Given the description of an element on the screen output the (x, y) to click on. 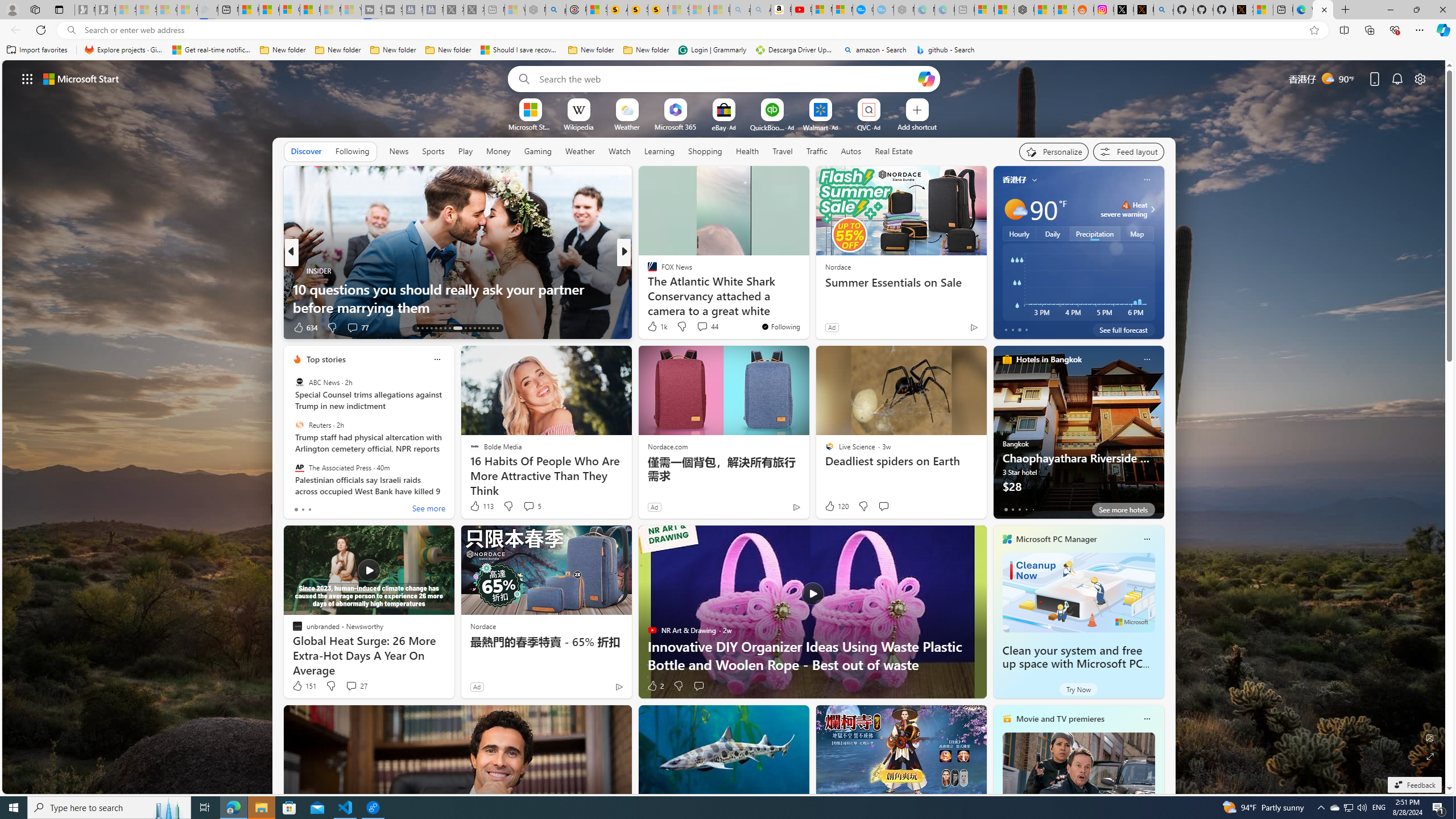
Heat - Severe (1126, 204)
AutomationID: tab-25 (478, 328)
tab-3 (1025, 509)
Personalize your feed" (1054, 151)
To get missing image descriptions, open the context menu. (529, 109)
AutomationID: tab-20 (449, 328)
AutomationID: tab-15 (426, 328)
Descarga Driver Updater (794, 49)
